Given the description of an element on the screen output the (x, y) to click on. 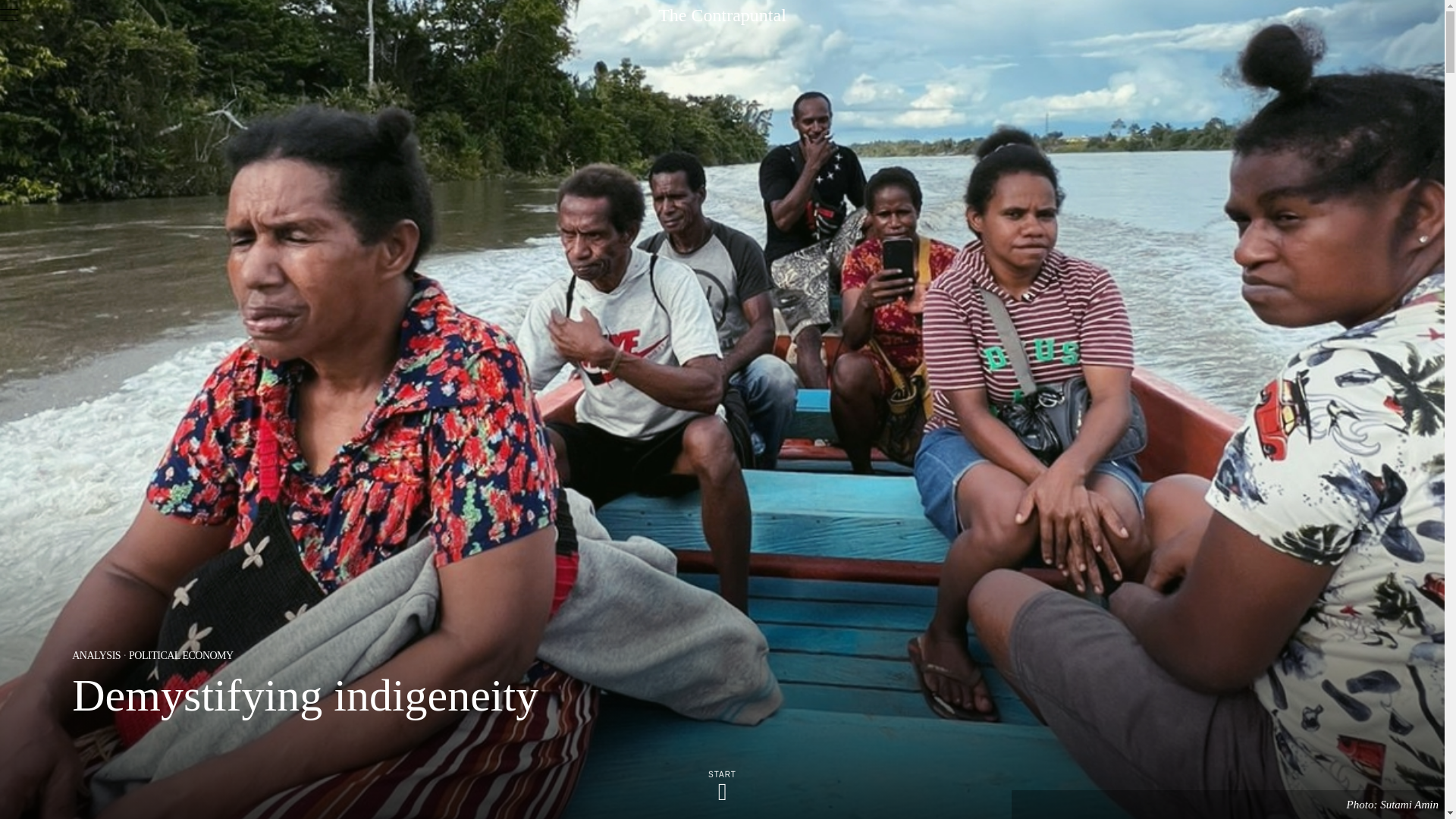
The Contrapuntal (722, 14)
ANALYSIS (95, 656)
POLITICAL ECONOMY (180, 656)
